Given the description of an element on the screen output the (x, y) to click on. 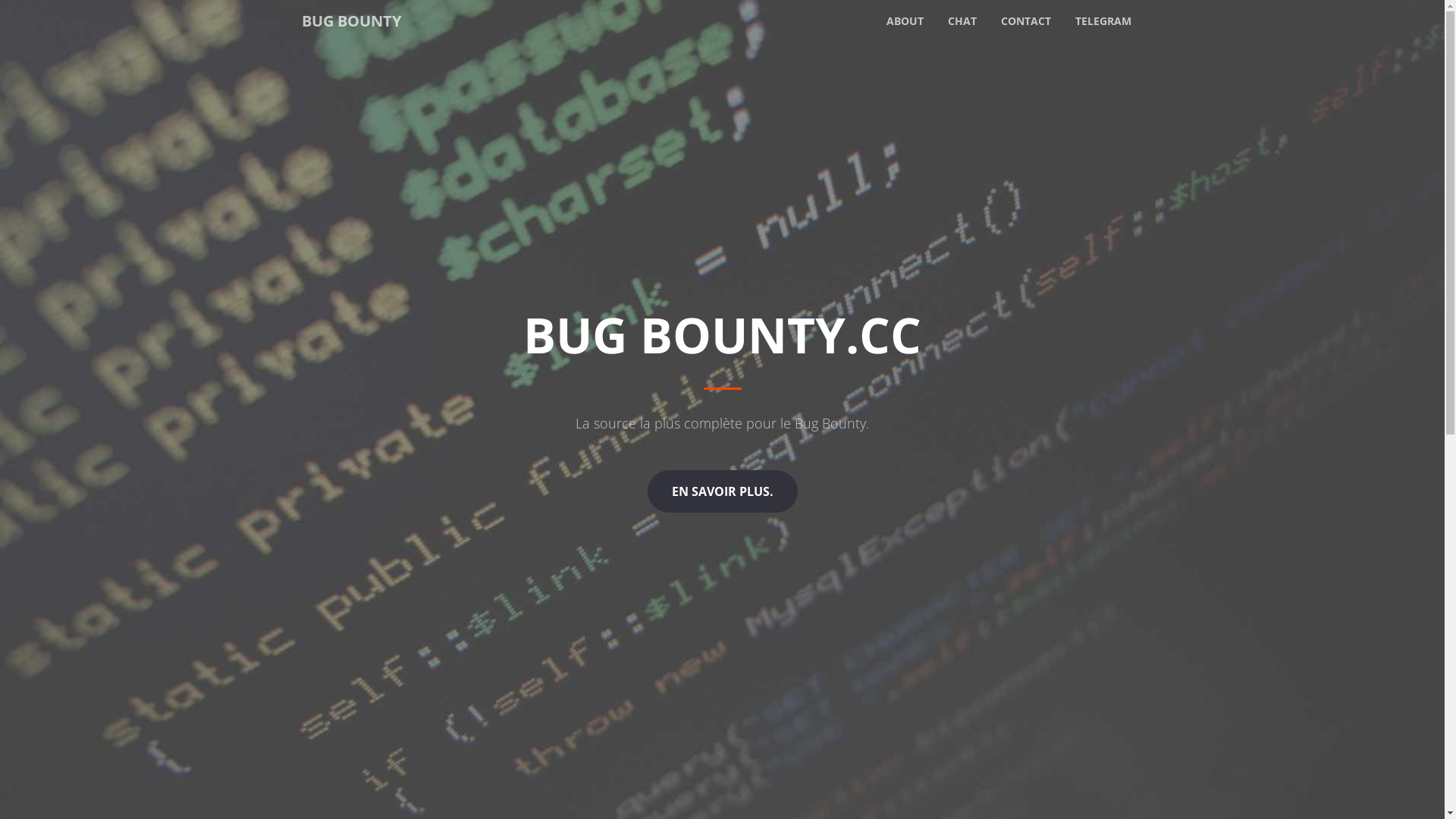
CHAT Element type: text (961, 20)
BUG BOUNTY Element type: text (351, 21)
EN SAVOIR PLUS. Element type: text (722, 491)
CONTACT Element type: text (1025, 20)
ABOUT Element type: text (904, 20)
TELEGRAM Element type: text (1103, 20)
